Given the description of an element on the screen output the (x, y) to click on. 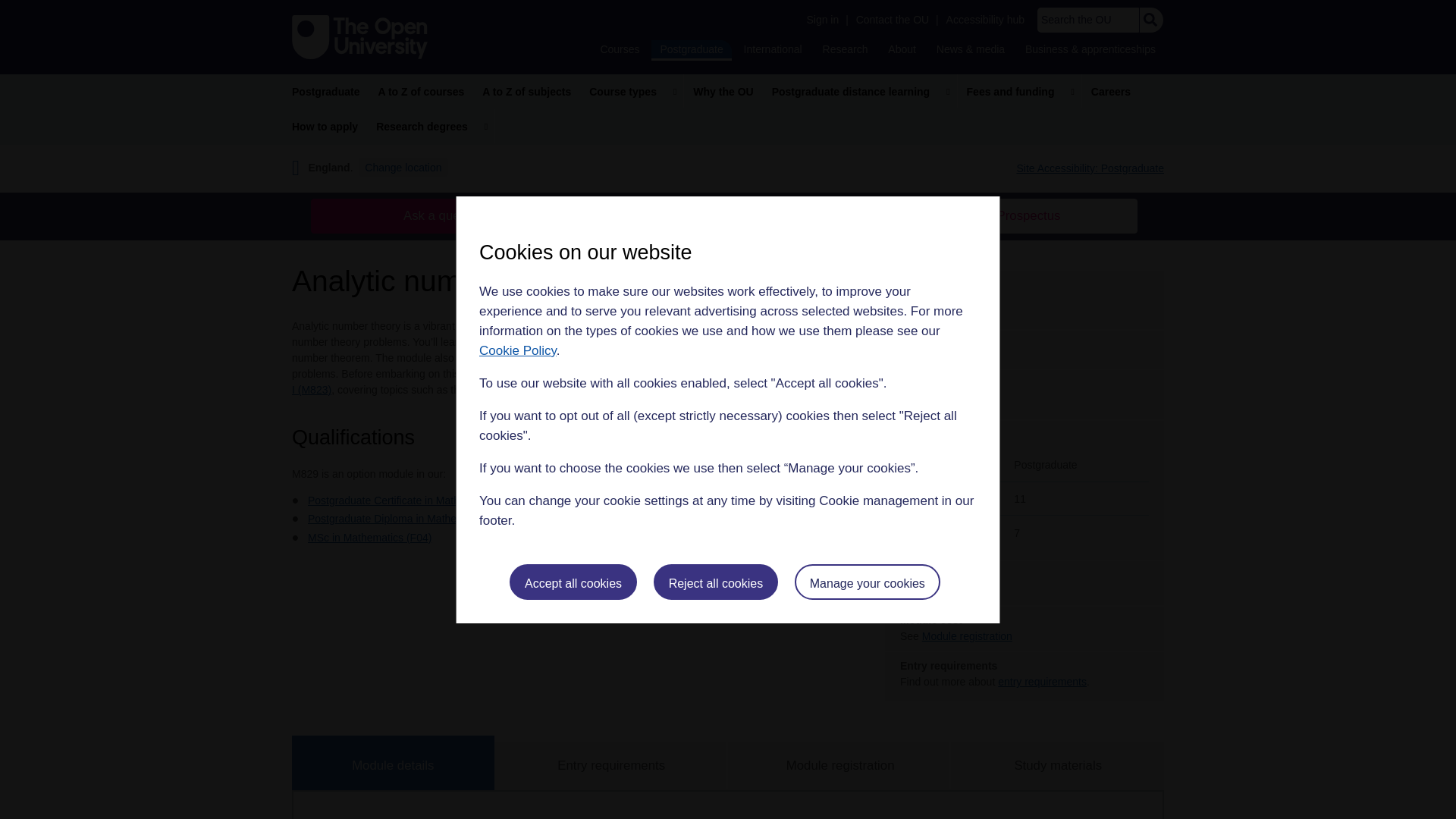
Reject all cookies (715, 581)
Save location (532, 520)
Cookie Policy (517, 350)
Show study level help (969, 436)
Search (1149, 19)
Sign in (822, 19)
Manage your cookies (867, 581)
Show credits help (949, 386)
Postgraduate (690, 50)
